Given the description of an element on the screen output the (x, y) to click on. 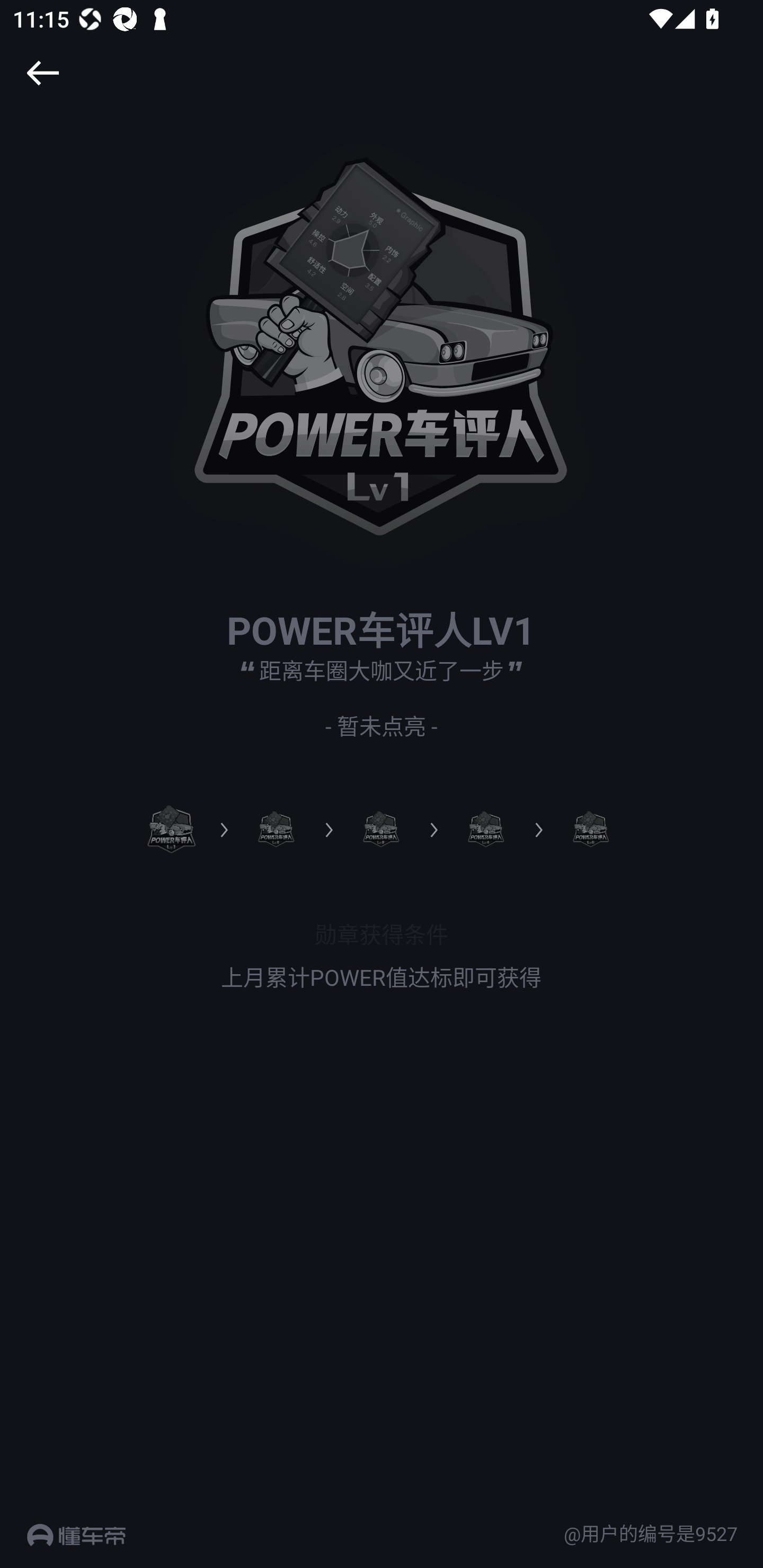
 (42, 72)
勋章获得条件 (381, 933)
上月累计POWER值达标即可获得 (381, 977)
